Given the description of an element on the screen output the (x, y) to click on. 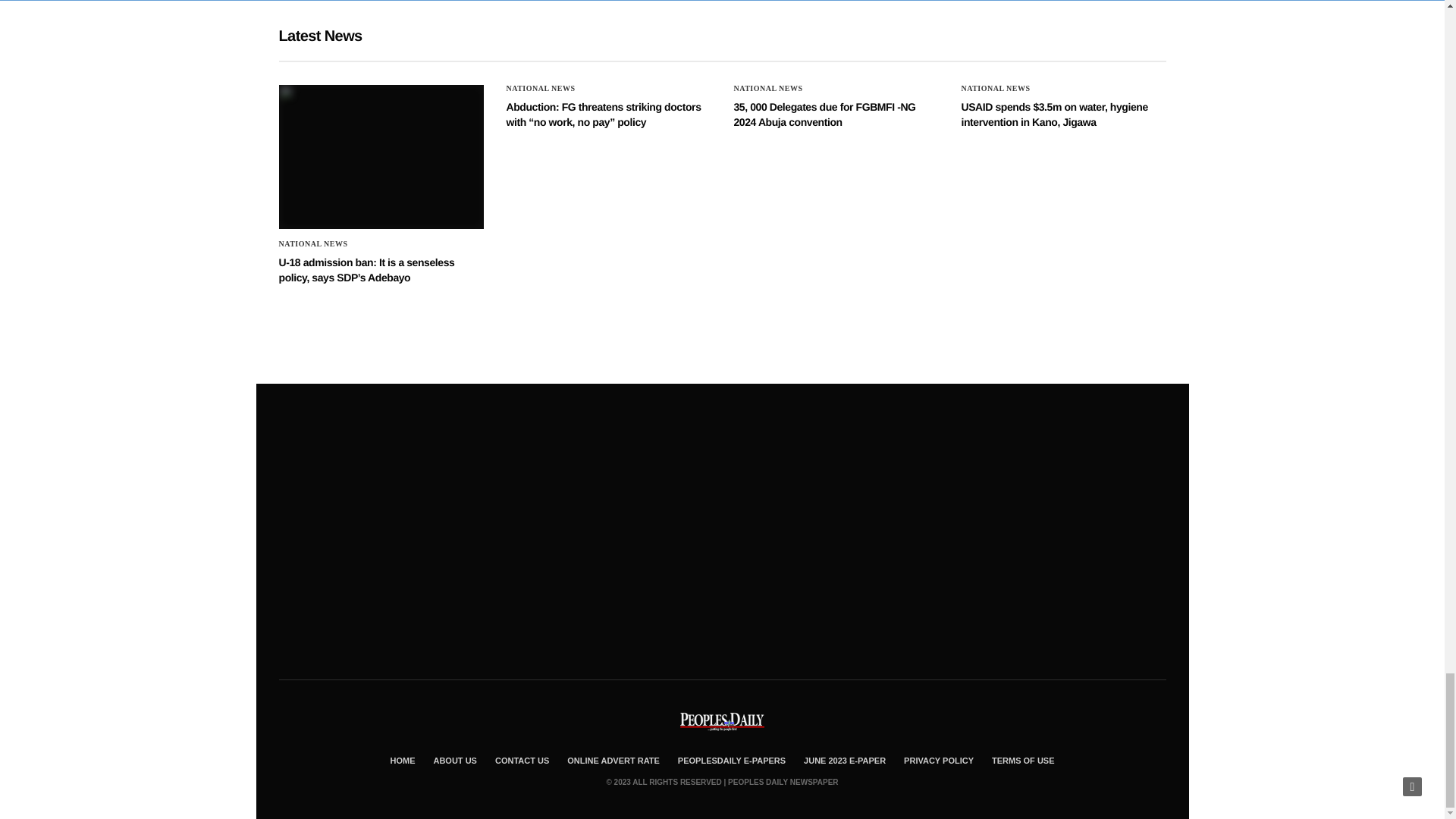
35, 000 Delegates due for FGBMFI -NG 2024 Abuja convention (824, 113)
National News (768, 88)
National News (313, 244)
National News (995, 88)
National News (540, 88)
